Given the description of an element on the screen output the (x, y) to click on. 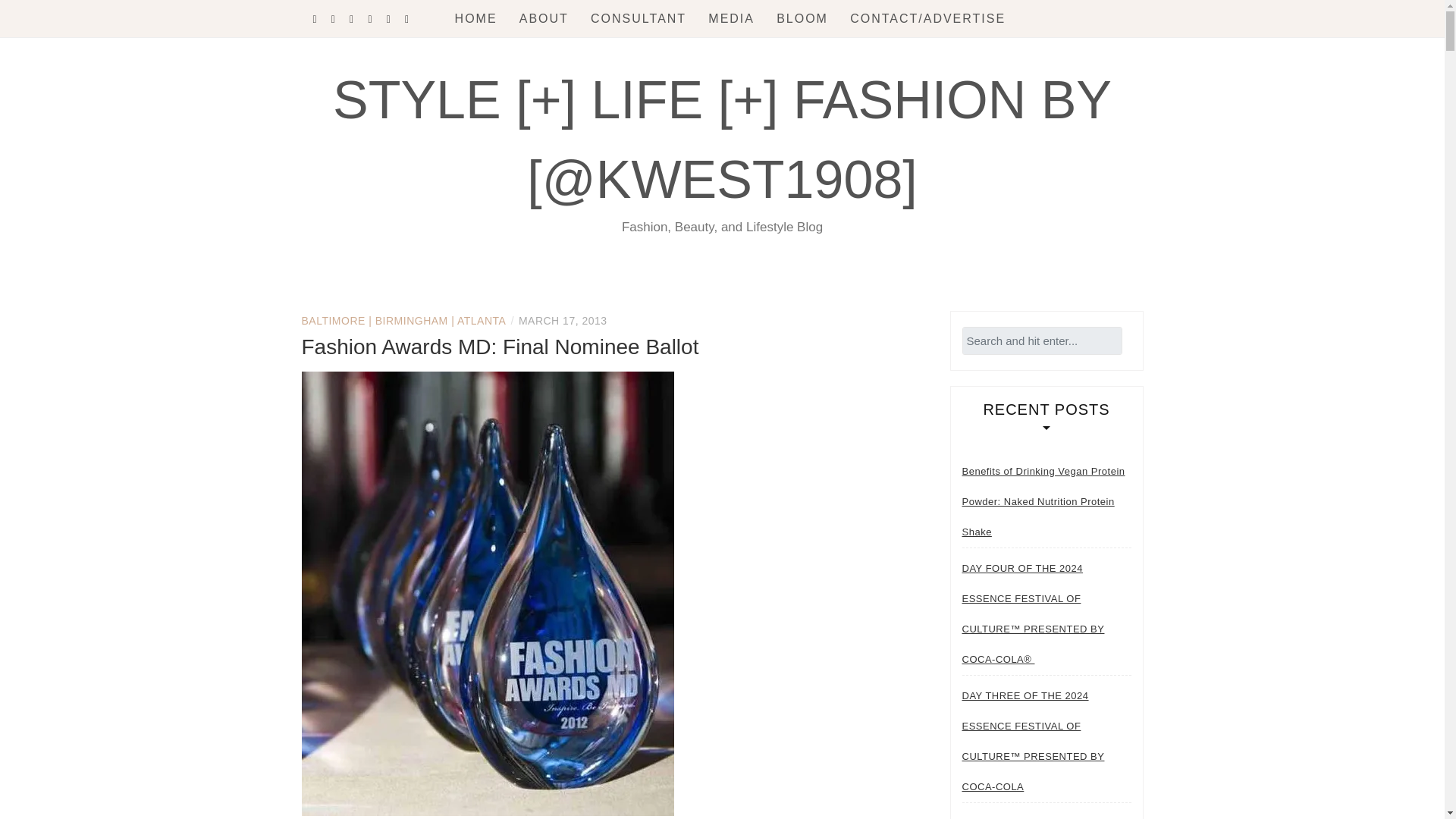
Stylish Summer Finds: Shopping for Fashion on a Budget (1045, 813)
ABOUT (544, 18)
Contact (928, 18)
MEDIA (730, 18)
BLOOM (802, 18)
HOME (475, 18)
CONSULTANT (638, 18)
Kimberly-West-Influencer (544, 18)
